Given the description of an element on the screen output the (x, y) to click on. 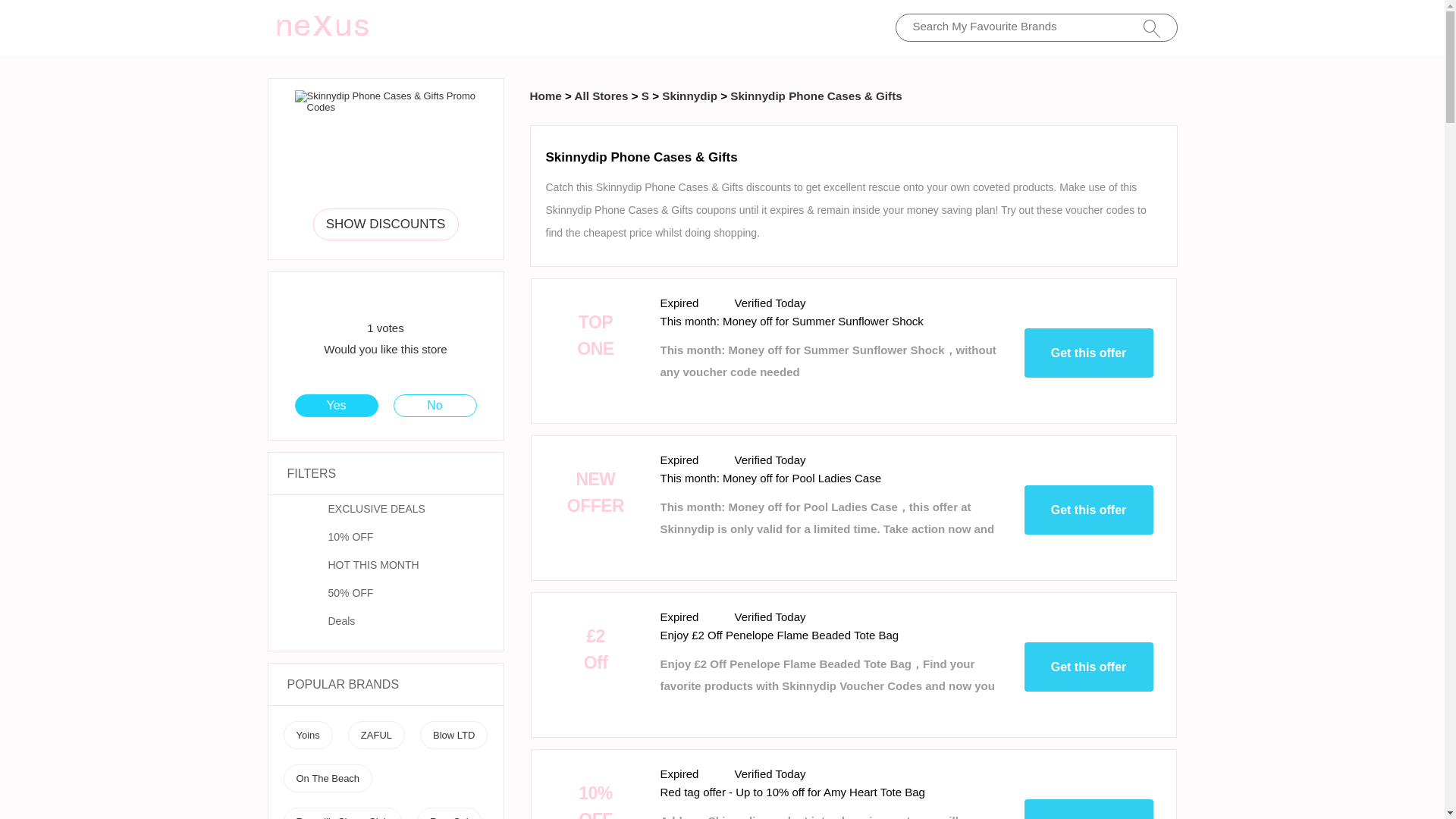
5 star out of 5 (384, 298)
2 star out of 5 (356, 298)
Blow LTD (453, 735)
On The Beach (327, 778)
4 star out of 5 (375, 298)
3 star out of 5 (365, 298)
No (435, 405)
1 star out of 5 (346, 298)
RoseGal (448, 817)
SHOW DISCOUNTS (385, 223)
